Given the description of an element on the screen output the (x, y) to click on. 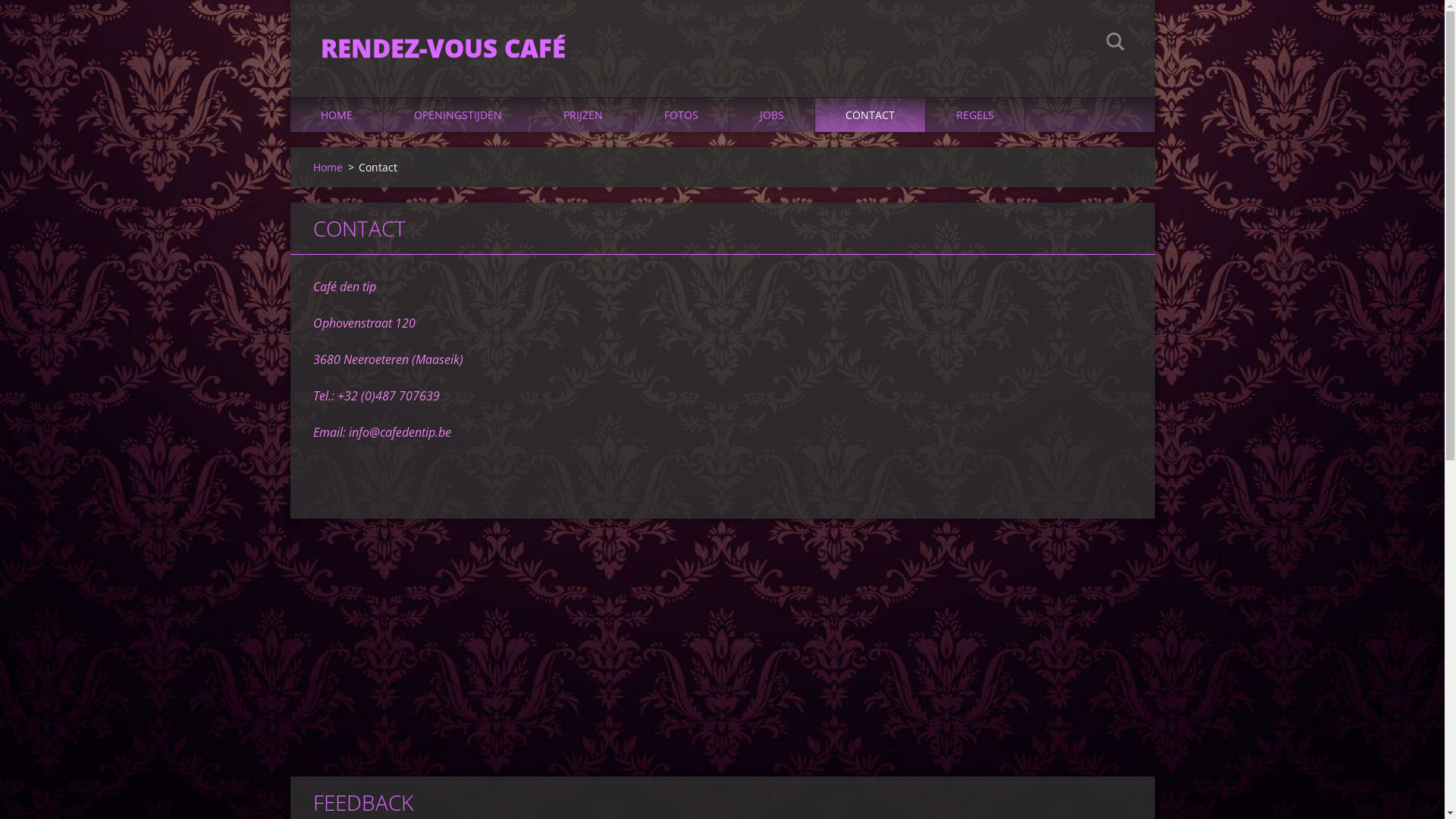
Zoeken Element type: text (1114, 43)
PRIJZEN Element type: text (582, 114)
OPENINGSTIJDEN Element type: text (458, 114)
FOTOS Element type: text (681, 114)
CONTACT Element type: text (869, 114)
Home Element type: text (327, 166)
HOME Element type: text (335, 114)
REGELS Element type: text (974, 114)
JOBS Element type: text (772, 114)
